Given the description of an element on the screen output the (x, y) to click on. 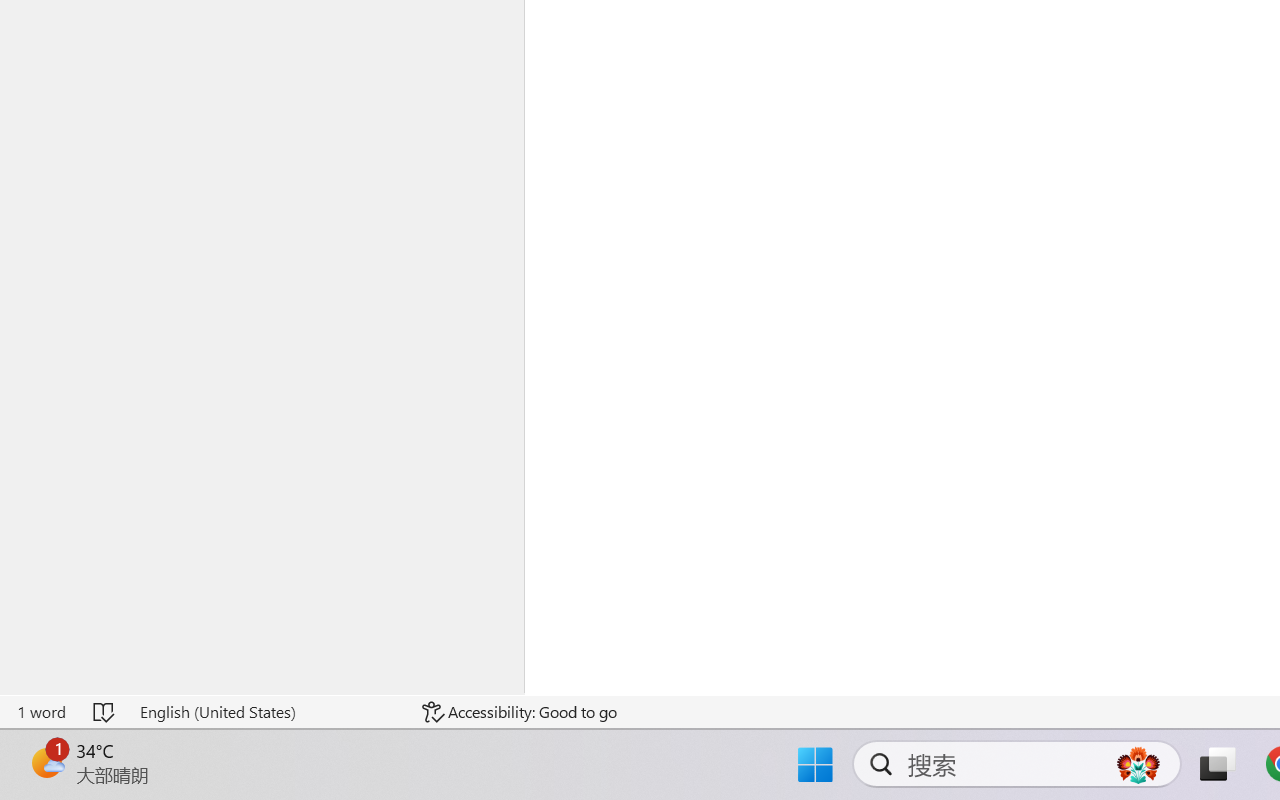
AutomationID: BadgeAnchorLargeTicker (46, 762)
Word Count 1 word (41, 712)
AutomationID: DynamicSearchBoxGleamImage (1138, 764)
Language English (United States) (267, 712)
Accessibility Checker Accessibility: Good to go (519, 712)
Spelling and Grammar Check No Errors (105, 712)
